Given the description of an element on the screen output the (x, y) to click on. 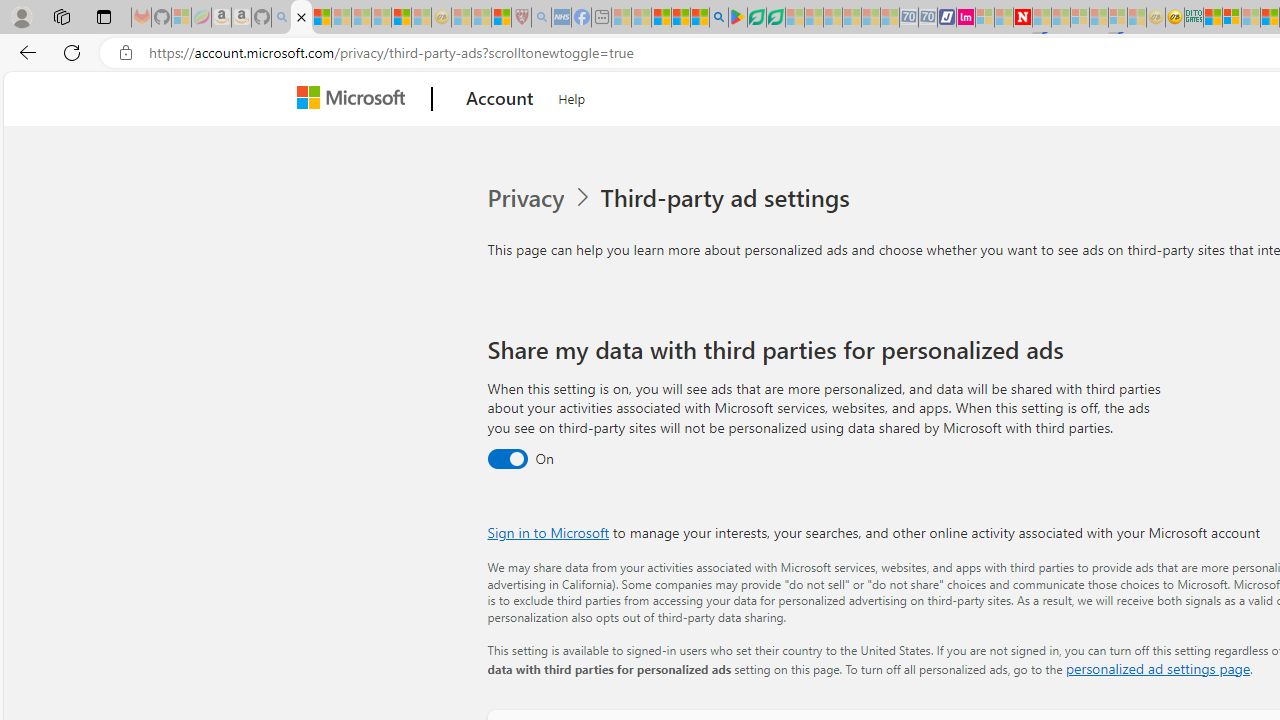
Pets - MSN (680, 17)
Sign in to Microsoft (548, 532)
Third-party ad settings (729, 197)
